Given the description of an element on the screen output the (x, y) to click on. 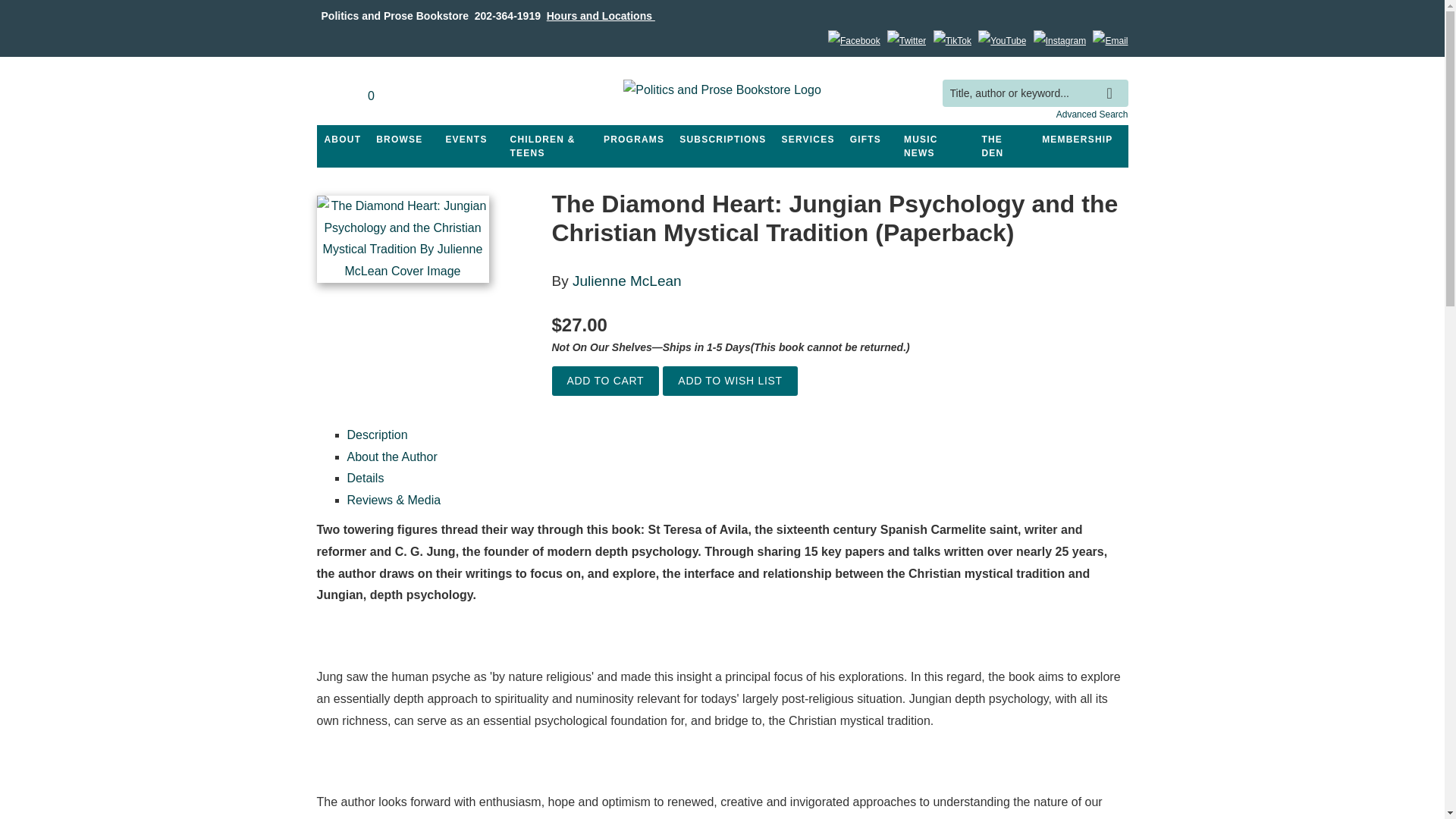
EVENTS (465, 139)
BROWSE (398, 139)
Home (722, 92)
See our store ours and locations (601, 15)
SERVICES (808, 139)
PROGRAMS (633, 139)
ABOUT (343, 139)
Title, author or keyword... (1034, 93)
Children and Teens Department (548, 146)
Add to Wish List (729, 380)
